Given the description of an element on the screen output the (x, y) to click on. 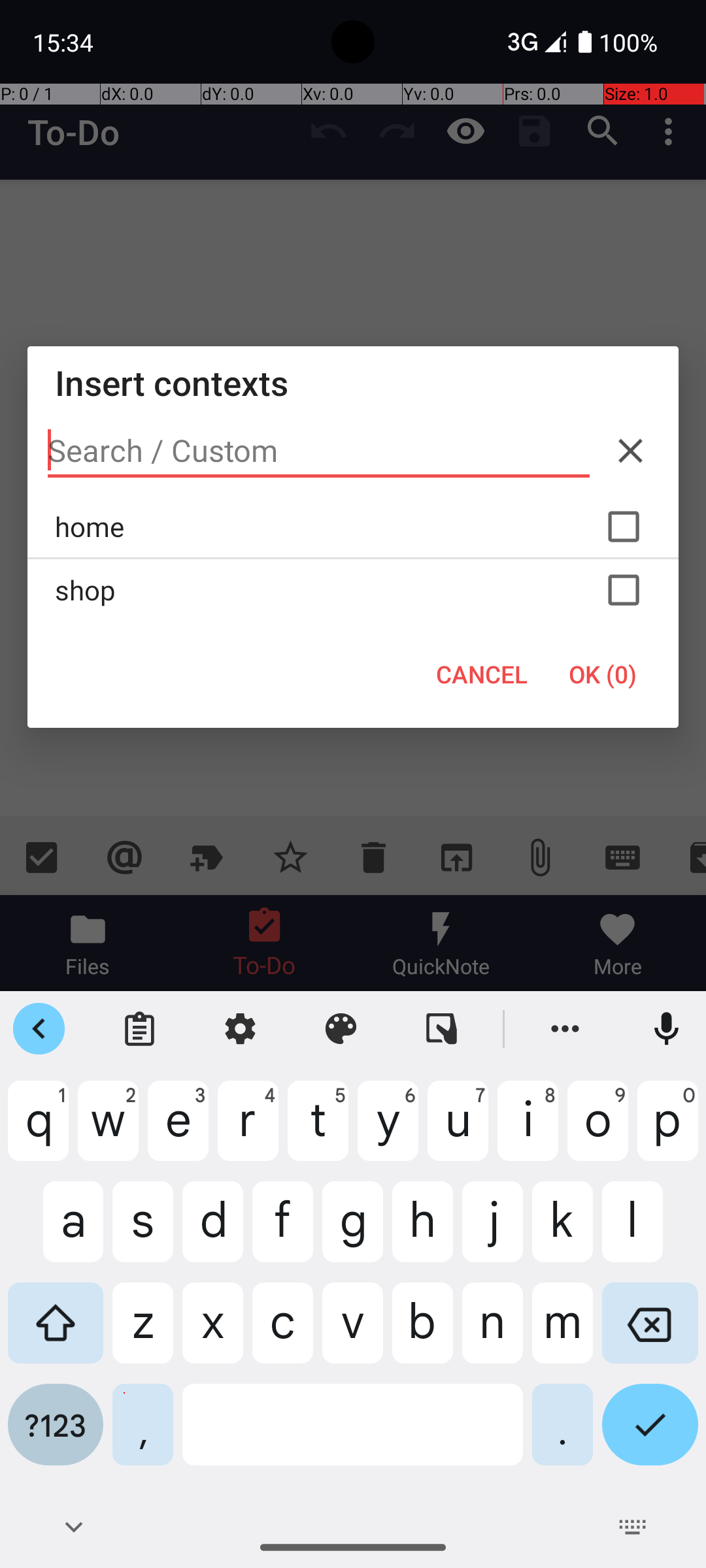
Insert contexts Element type: android.widget.TextView (352, 382)
Search / Custom Element type: android.widget.EditText (318, 450)
home Element type: android.widget.CheckedTextView (352, 526)
shop Element type: android.widget.CheckedTextView (352, 589)
OK (0) Element type: android.widget.Button (602, 673)
